Given the description of an element on the screen output the (x, y) to click on. 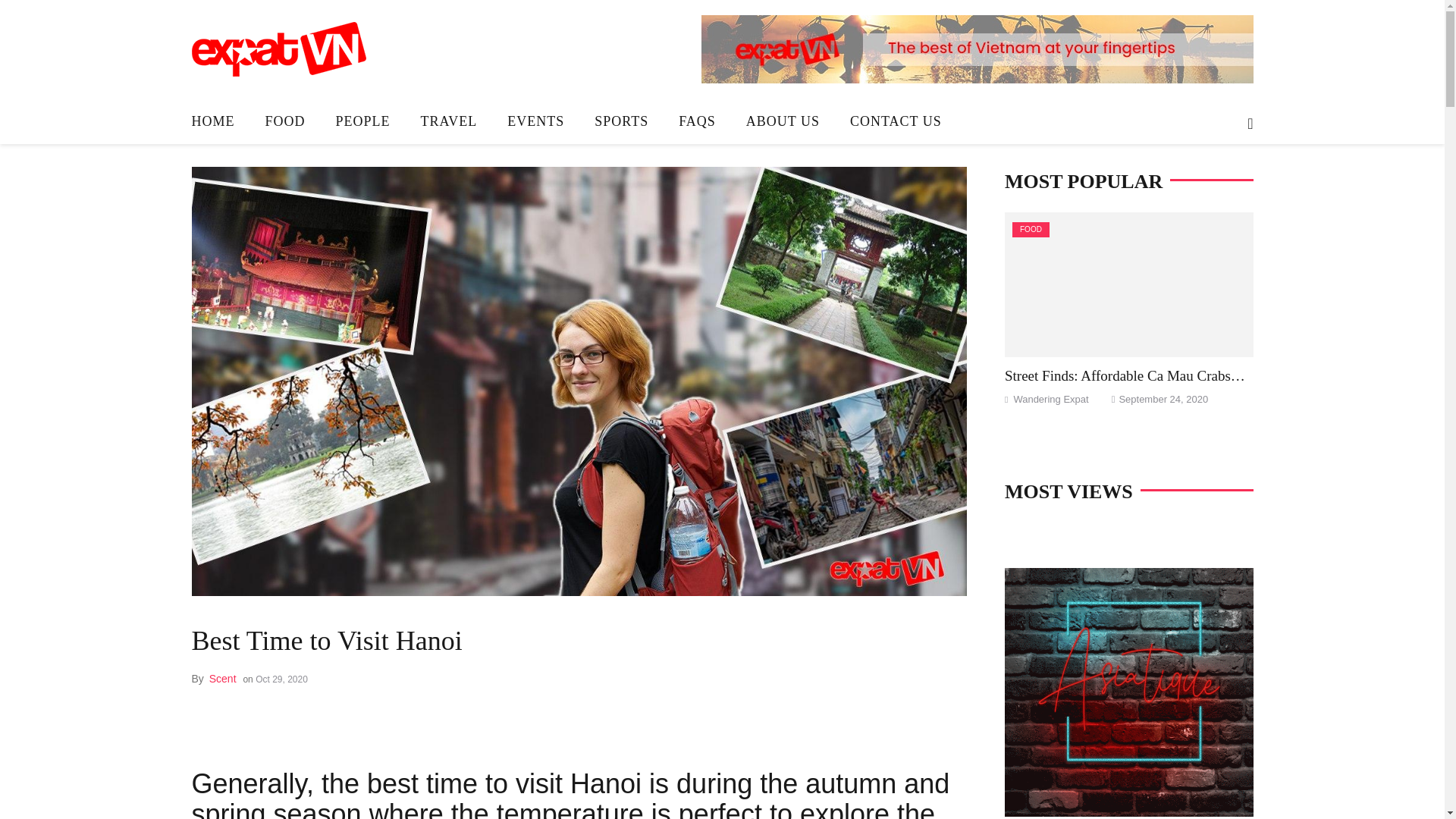
HOME (219, 121)
ABOUT US (782, 121)
PEOPLE (363, 121)
SPORTS (621, 121)
TRAVEL (449, 121)
CONTACT US (895, 121)
FAQS (696, 121)
EVENTS (535, 121)
FOOD (285, 121)
Scent (222, 678)
